Given the description of an element on the screen output the (x, y) to click on. 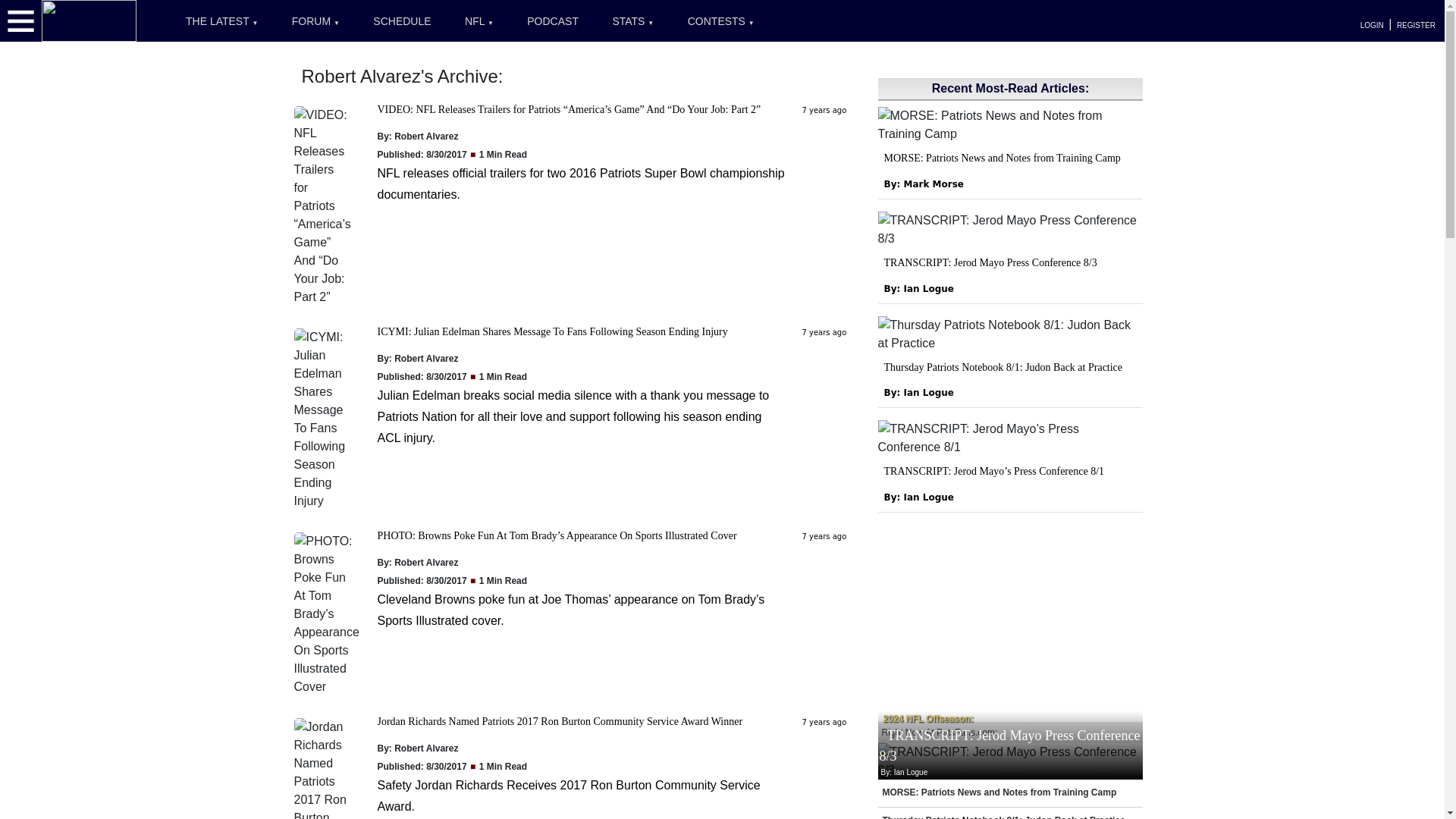
PODCAST (553, 21)
SCHEDULE (401, 21)
PatsFans.com (89, 19)
MORSE: Patriots News and Notes from Training Camp (1002, 157)
